Given the description of an element on the screen output the (x, y) to click on. 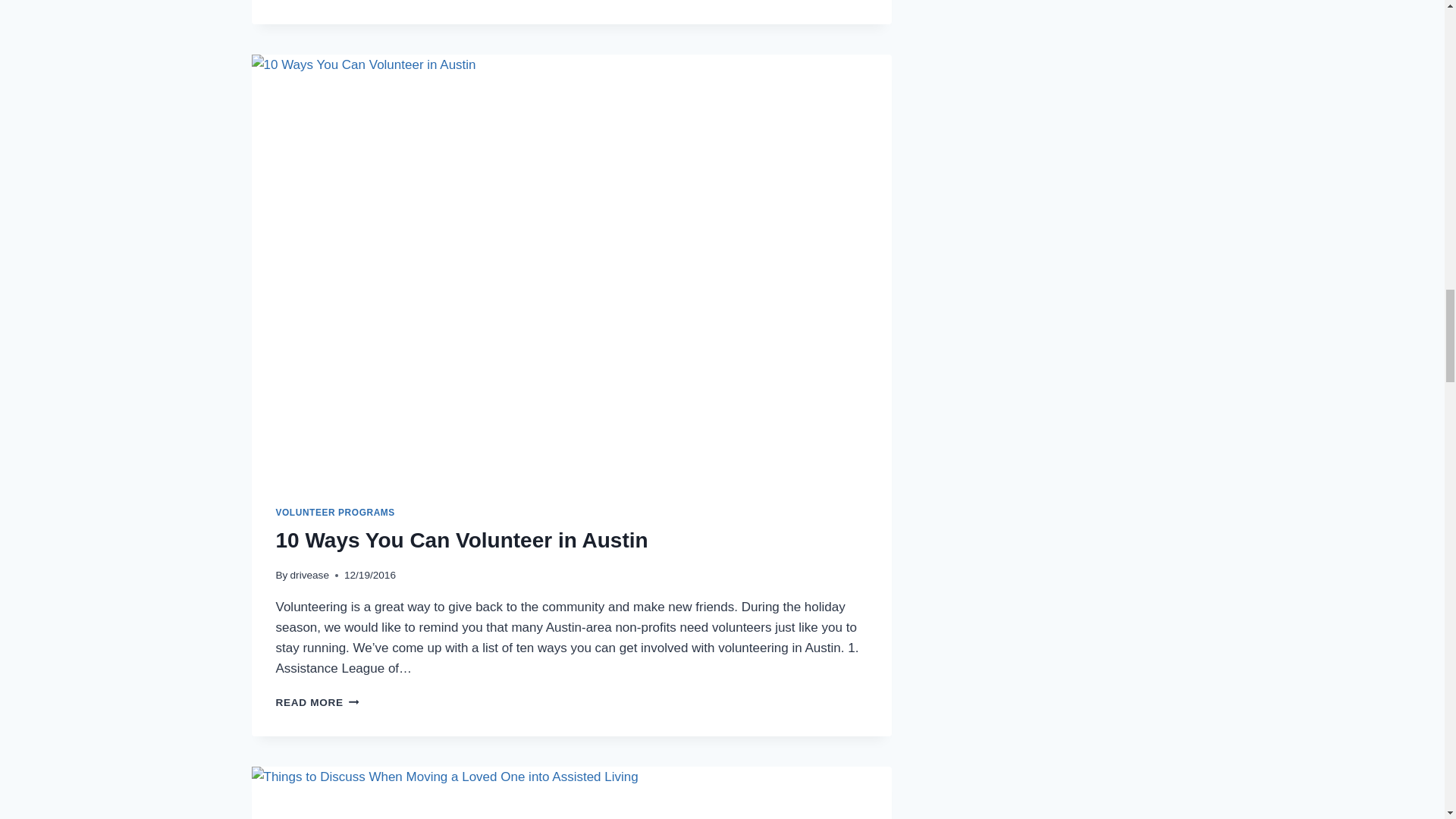
10 Ways You Can Volunteer in Austin (461, 540)
drivease (309, 574)
VOLUNTEER PROGRAMS (335, 511)
